Given the description of an element on the screen output the (x, y) to click on. 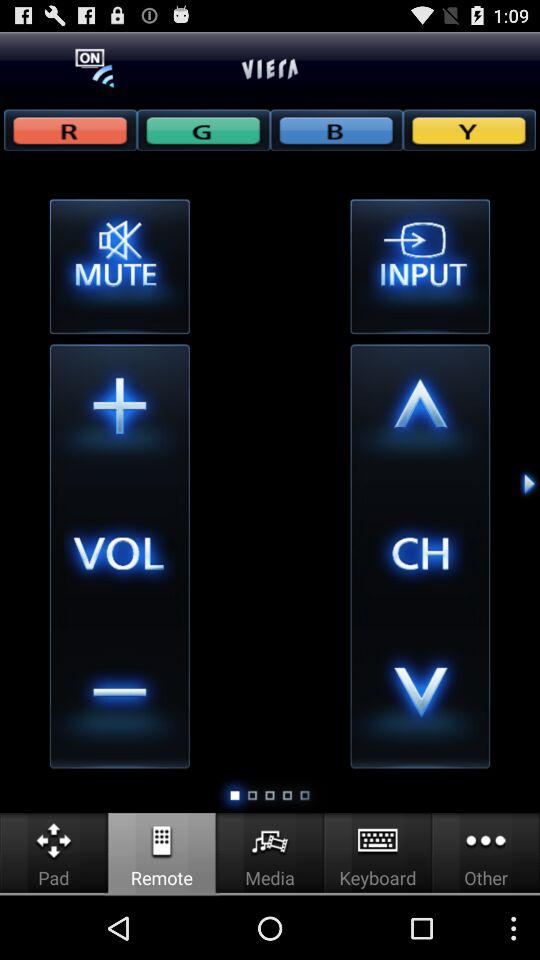
volume up (119, 414)
